Given the description of an element on the screen output the (x, y) to click on. 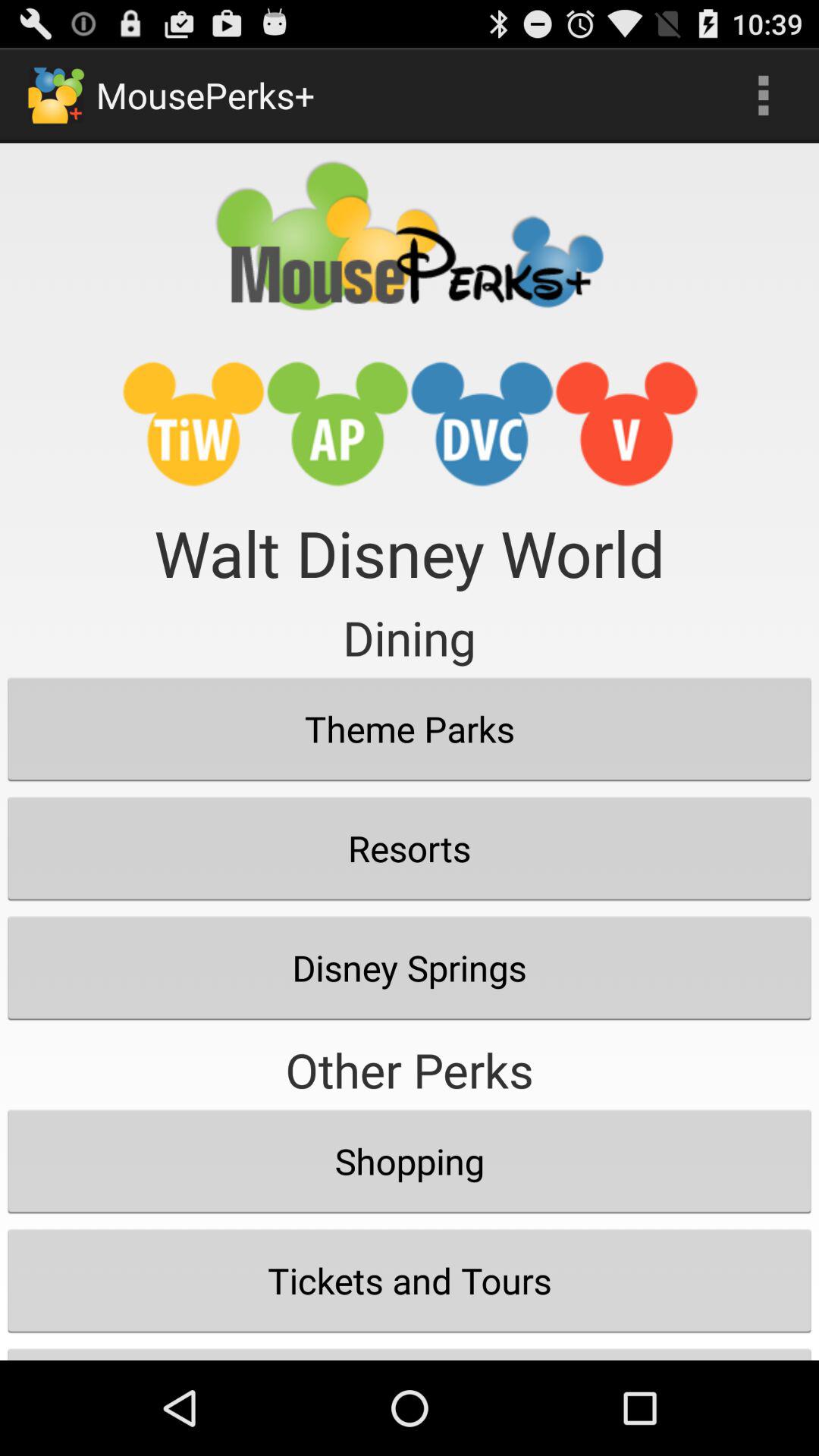
select the item below dining app (409, 728)
